Given the description of an element on the screen output the (x, y) to click on. 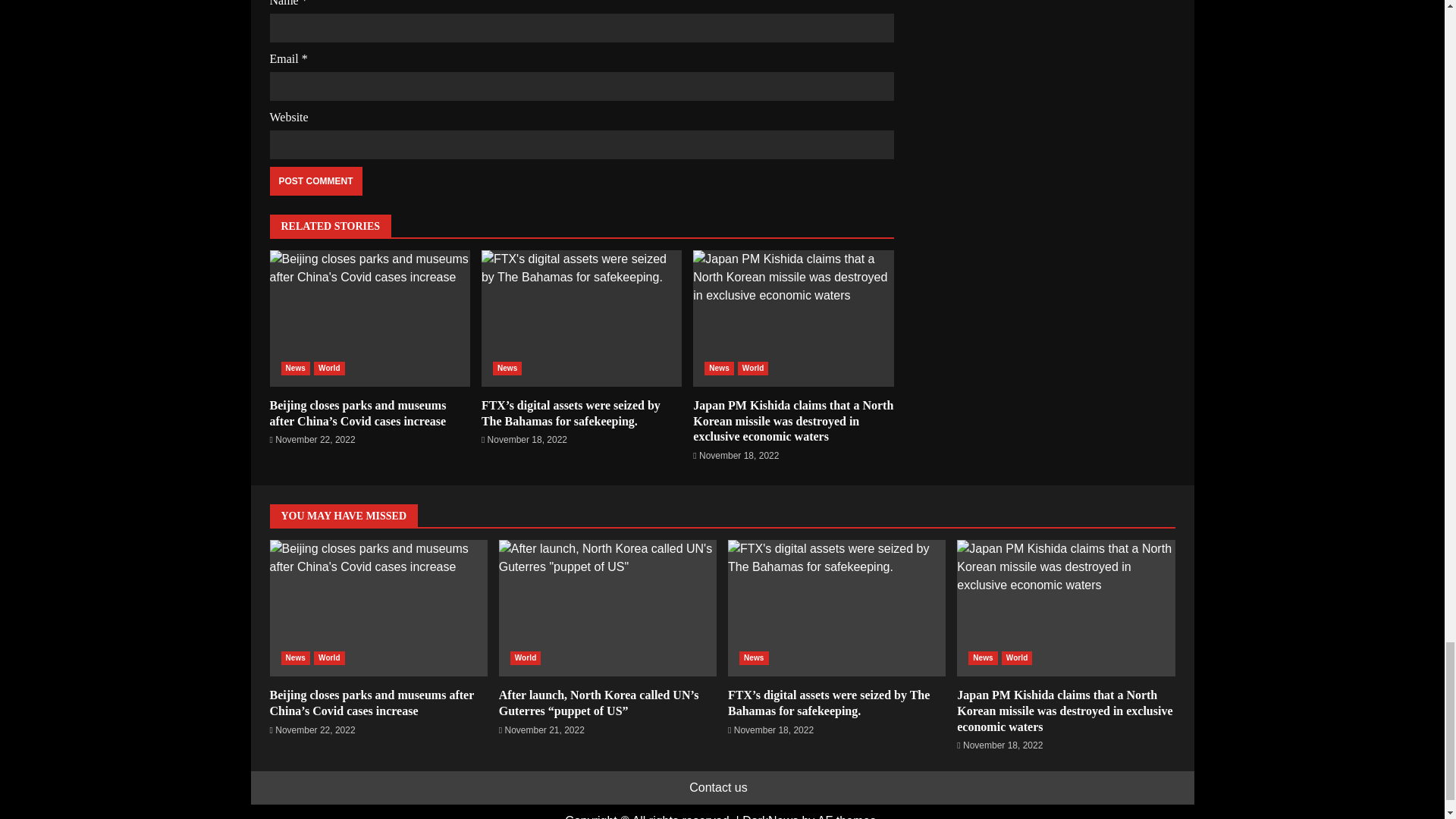
News (295, 368)
News (507, 368)
World (753, 368)
Post Comment (315, 181)
World (329, 368)
News (718, 368)
Post Comment (315, 181)
